Given the description of an element on the screen output the (x, y) to click on. 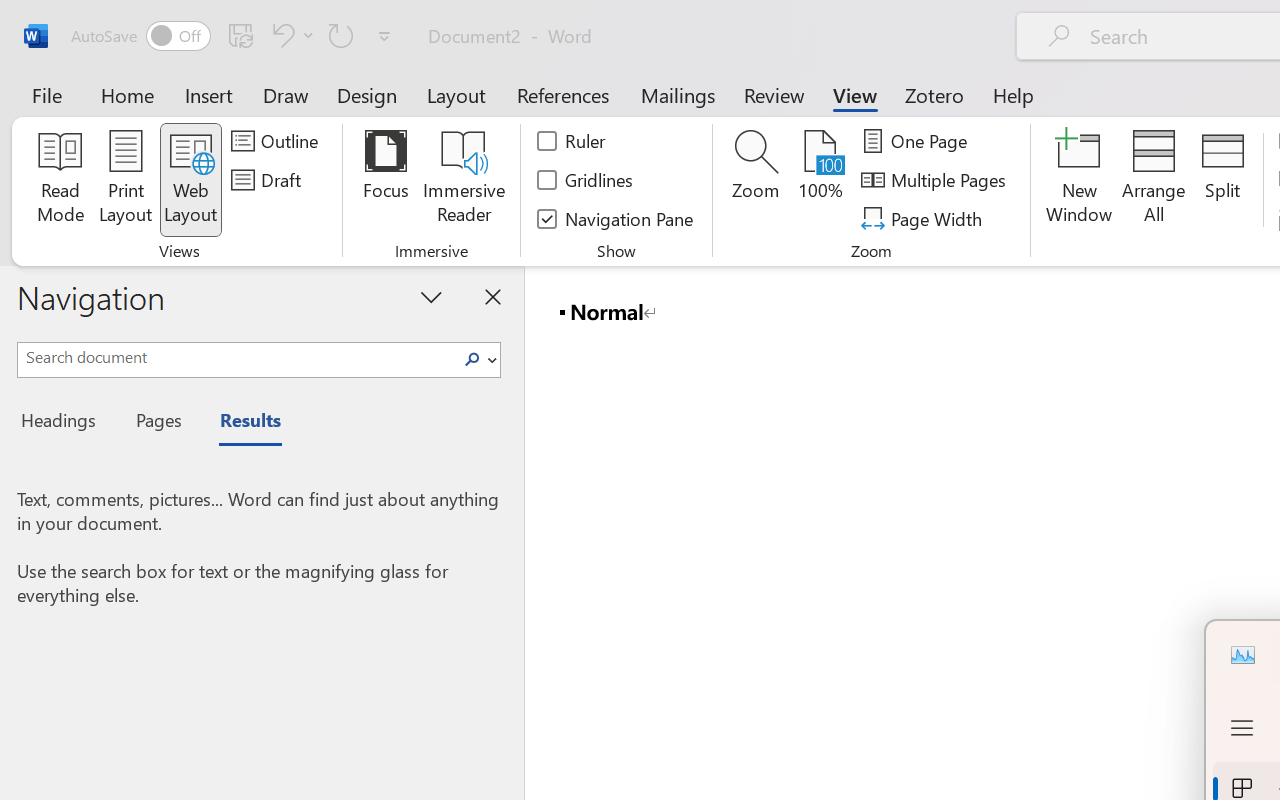
Gridlines (586, 179)
Help (1013, 94)
Undo <ApplyStyleToDoc>b__0 (280, 35)
Outline (278, 141)
Split (1222, 179)
Draft (269, 179)
Repeat Doc Close (341, 35)
